Given the description of an element on the screen output the (x, y) to click on. 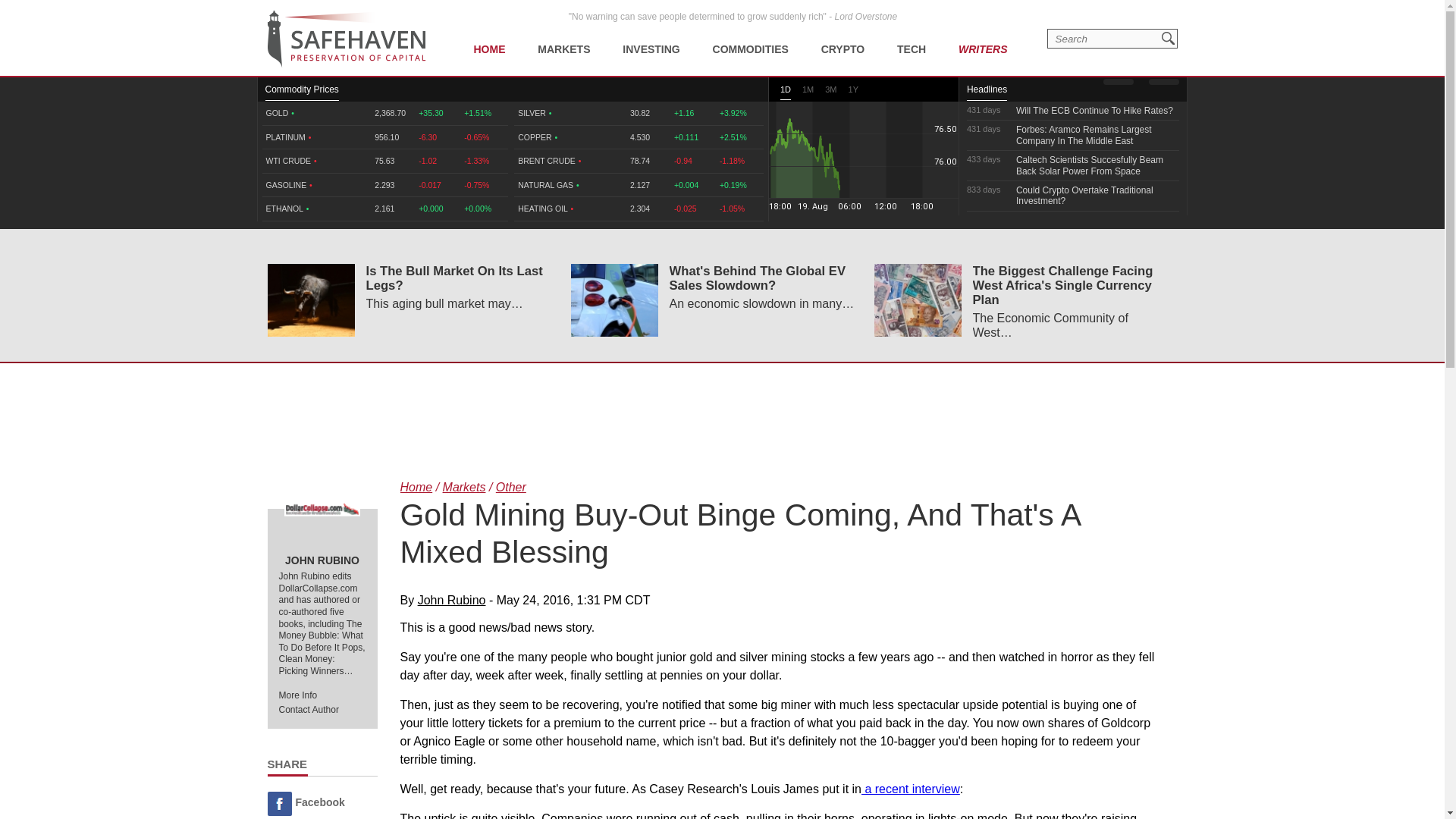
Headlines (986, 92)
What's Behind The Global EV Sales Slowdown? (614, 299)
Is The Bull Market On Its Last Legs? (309, 299)
Commodity Prices (301, 92)
INVESTING (650, 38)
John Rubino (321, 509)
Oil prices - Oilprice.com (345, 38)
COMMODITIES (750, 38)
